Given the description of an element on the screen output the (x, y) to click on. 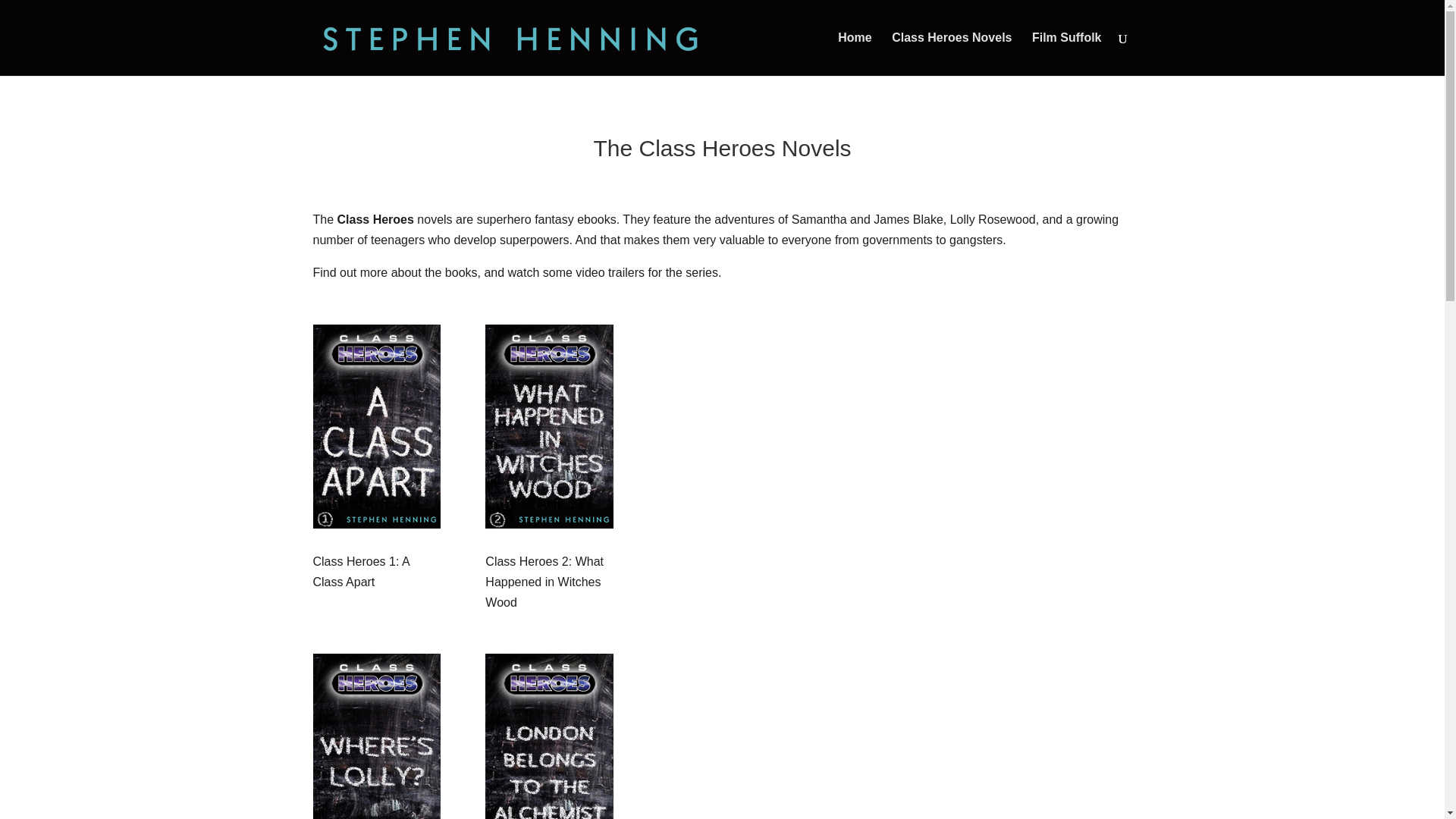
Class Heroes Superhero Book Series Trailer (894, 457)
Film Suffolk (1067, 54)
Class Heroes Novels (951, 54)
